Given the description of an element on the screen output the (x, y) to click on. 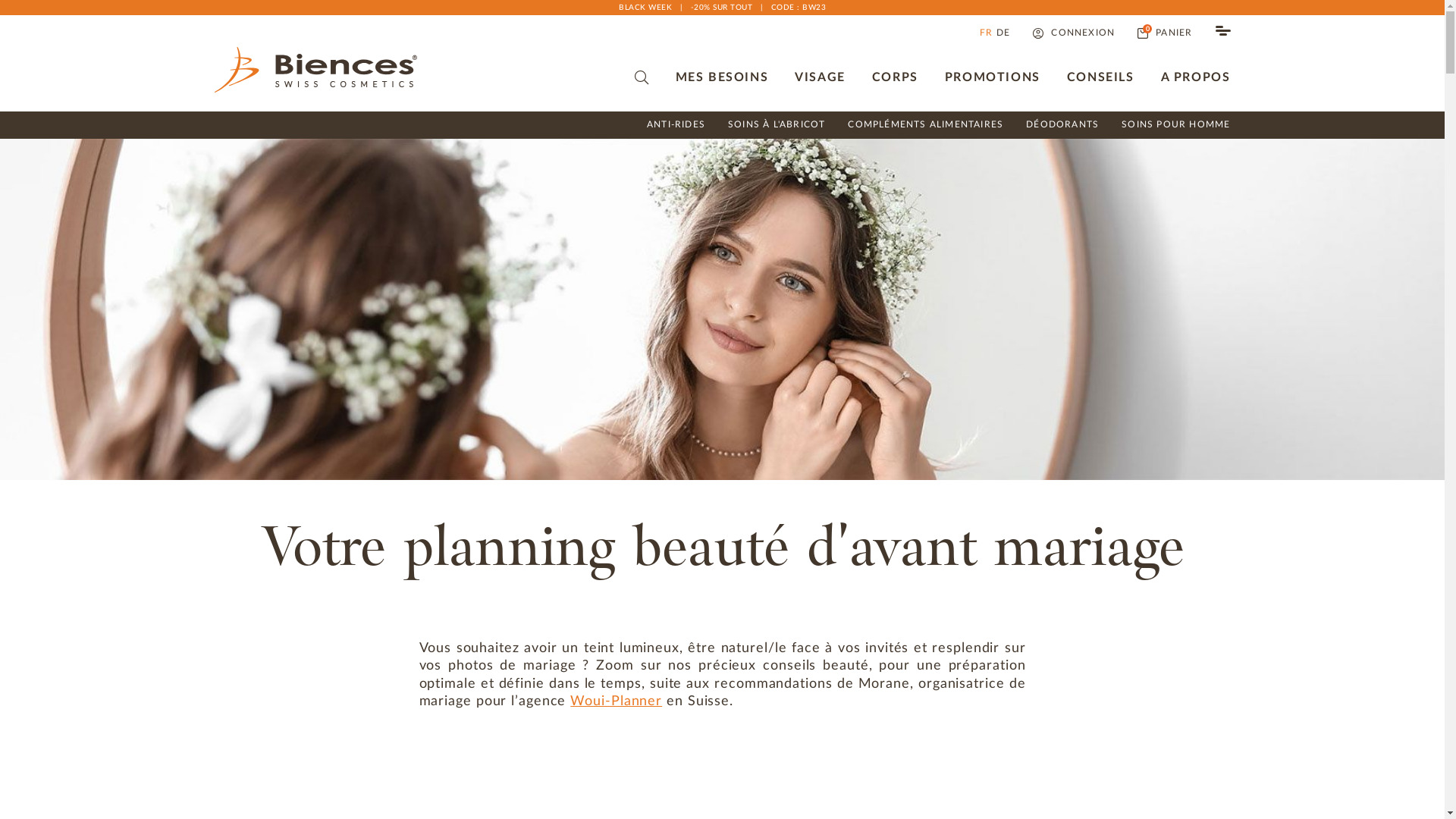
SOINS POUR HOMME Element type: text (1175, 124)
DE Element type: text (1003, 33)
ANTI-RIDES Element type: text (675, 124)
CONNEXION Element type: text (1073, 33)
FR Element type: text (985, 33)
0
PANIER Element type: text (1164, 33)
Woui-Planner Element type: text (616, 701)
